Given the description of an element on the screen output the (x, y) to click on. 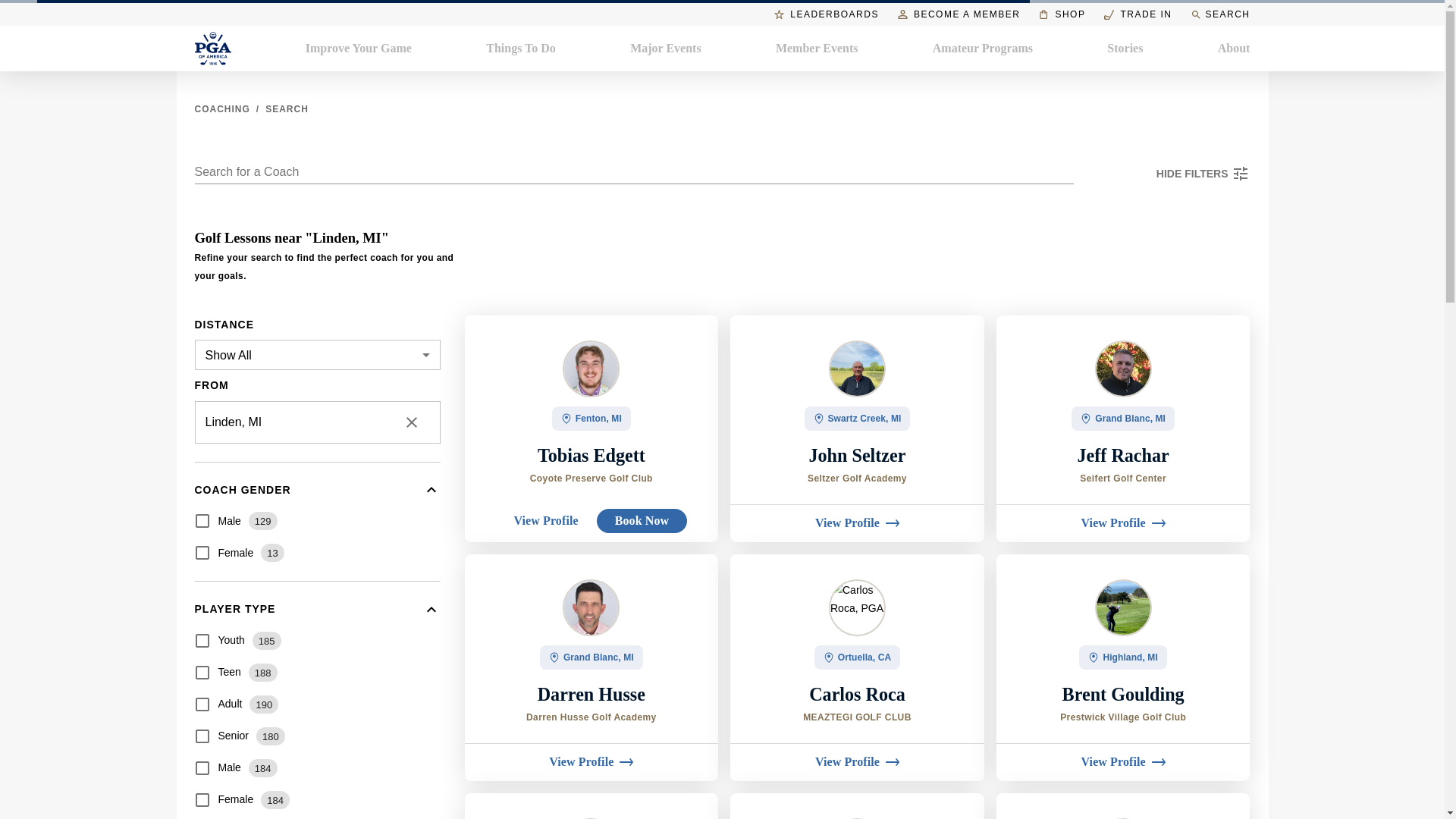
Amateur Programs (982, 48)
Things To Do (521, 48)
Member Events (817, 48)
Linden, MI (293, 422)
BECOME A MEMBER (959, 13)
Search (286, 109)
TRADE IN (1137, 13)
Major Events (665, 48)
Coaching (220, 109)
SHOP (1061, 13)
